Given the description of an element on the screen output the (x, y) to click on. 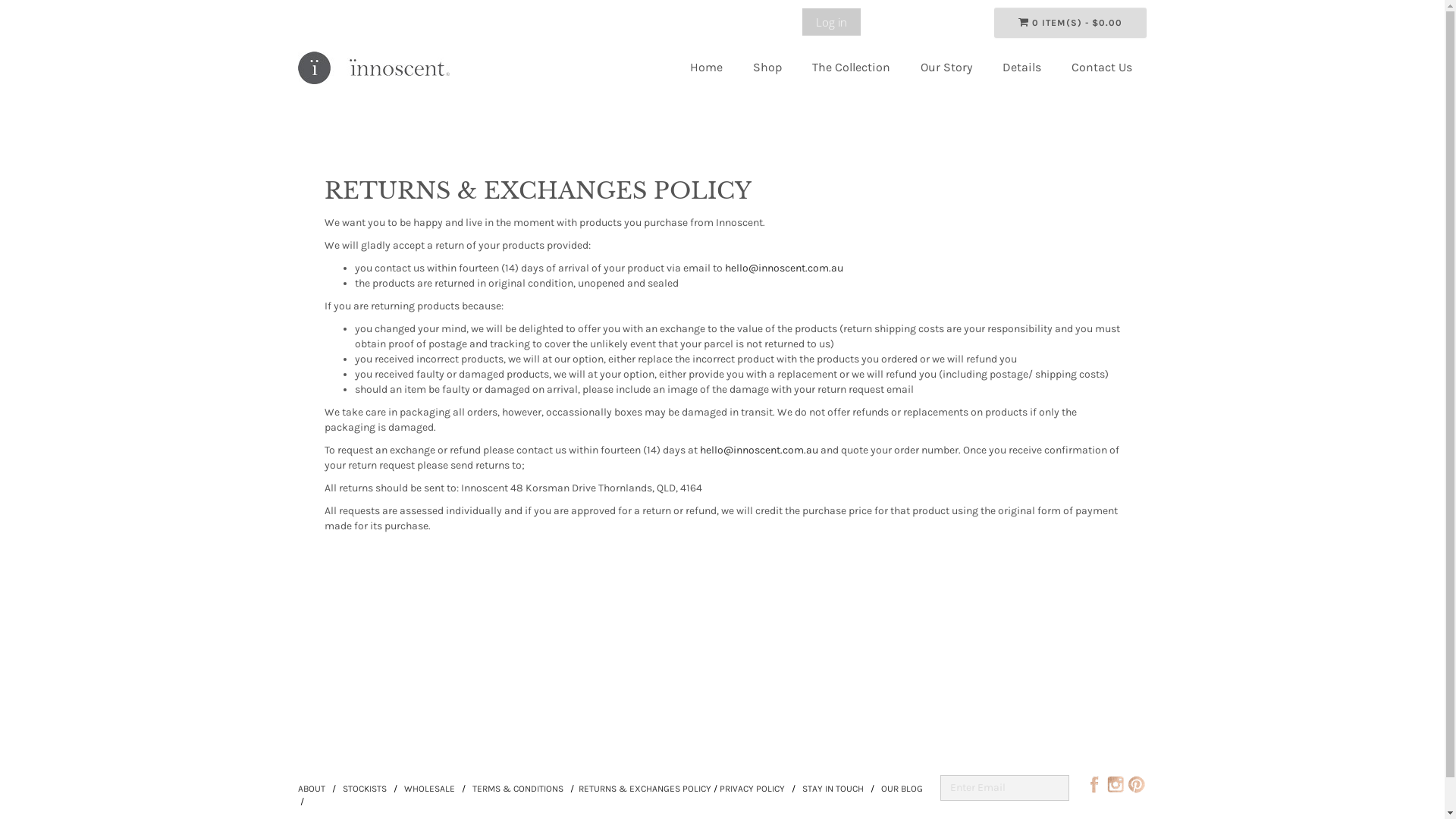
STAY IN TOUCH Element type: text (832, 788)
Our Story Element type: text (946, 67)
Log in Element type: text (831, 21)
hello@innoscent.com.au Element type: text (758, 449)
The Collection Element type: text (850, 67)
ABOUT Element type: text (310, 788)
RETURNS & EXCHANGES POLICY Element type: text (643, 788)
WHOLESALE Element type: text (428, 788)
Home Element type: text (705, 67)
Contact Us Element type: text (1100, 67)
0 ITEM(S) - $0.00 Element type: text (1070, 22)
hello@innoscent.com.au Element type: text (783, 267)
TERMS & CONDITIONS Element type: text (516, 788)
PRIVACY POLICY Element type: text (752, 788)
OUR BLOG Element type: text (901, 788)
Shop Element type: text (766, 67)
STOCKISTS Element type: text (362, 788)
Details Element type: text (1021, 67)
